Given the description of an element on the screen output the (x, y) to click on. 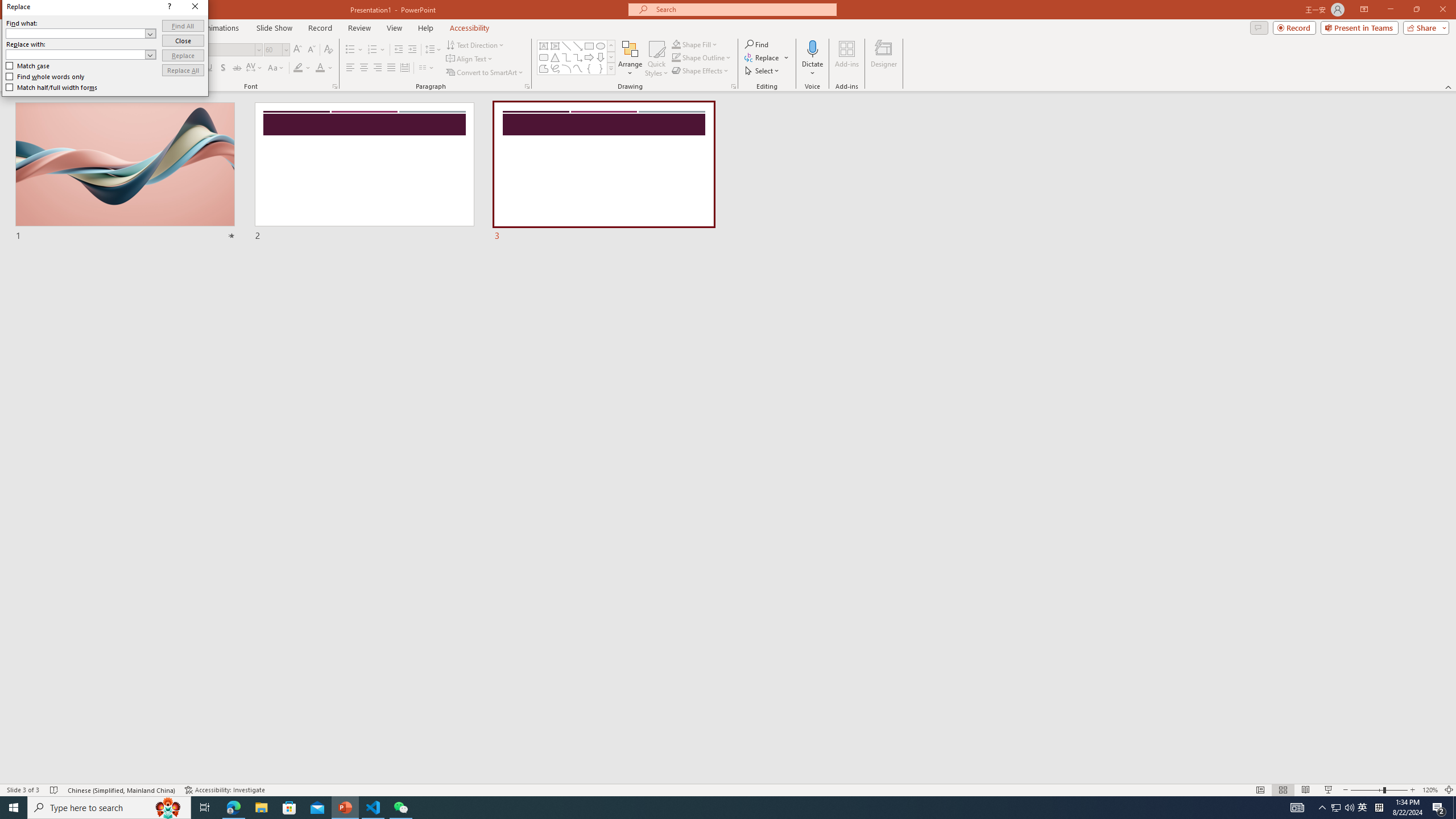
Increase Indent (412, 49)
Decrease Indent (398, 49)
Text Highlight Color Yellow (297, 67)
Vertical Text Box (554, 45)
Find... (756, 44)
Arrange (630, 58)
Text Box (543, 45)
Text Direction (476, 44)
Freeform: Scribble (554, 68)
